Given the description of an element on the screen output the (x, y) to click on. 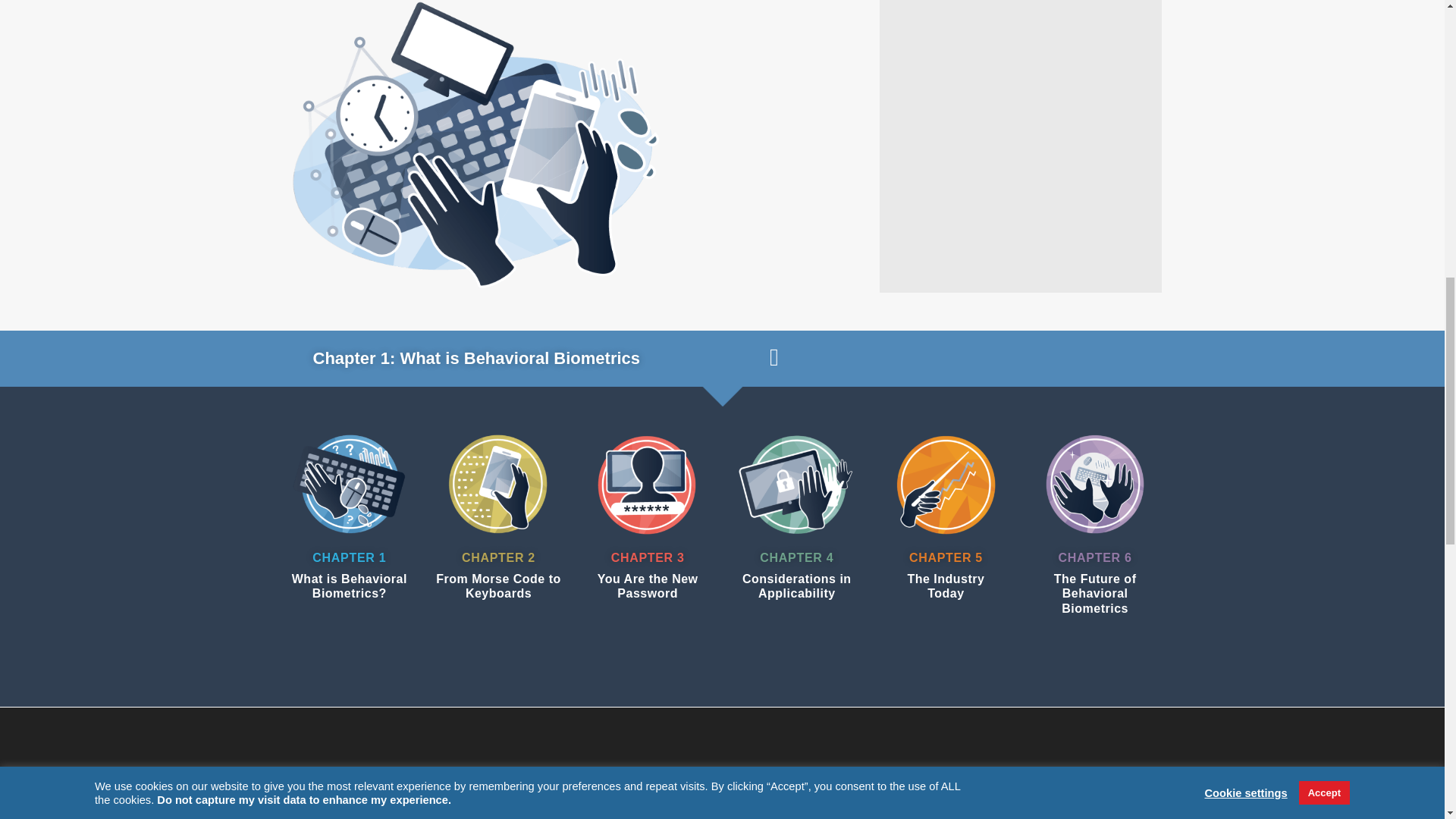
on (477, 73)
